Given the description of an element on the screen output the (x, y) to click on. 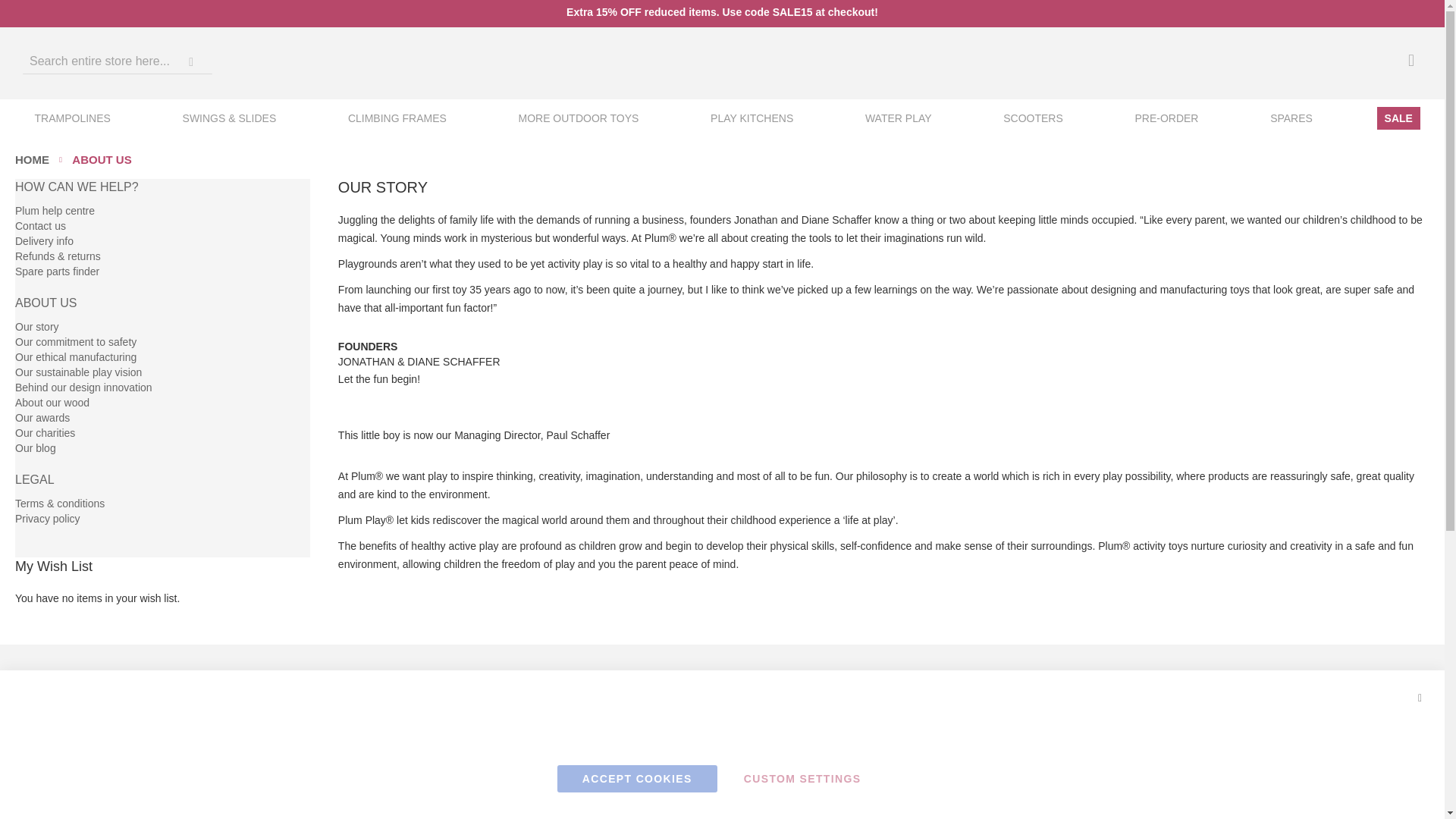
PRE-ORDER (1165, 118)
CLIMBING FRAMES (397, 118)
SALE (1399, 118)
JOIN NEWSLETTER (362, 808)
WATER PLAY (898, 118)
MORE OUTDOOR TOYS (578, 118)
TRAMPOLINES (72, 118)
SCOOTERS (1032, 118)
Home (31, 159)
PLAY KITCHENS (751, 118)
